Given the description of an element on the screen output the (x, y) to click on. 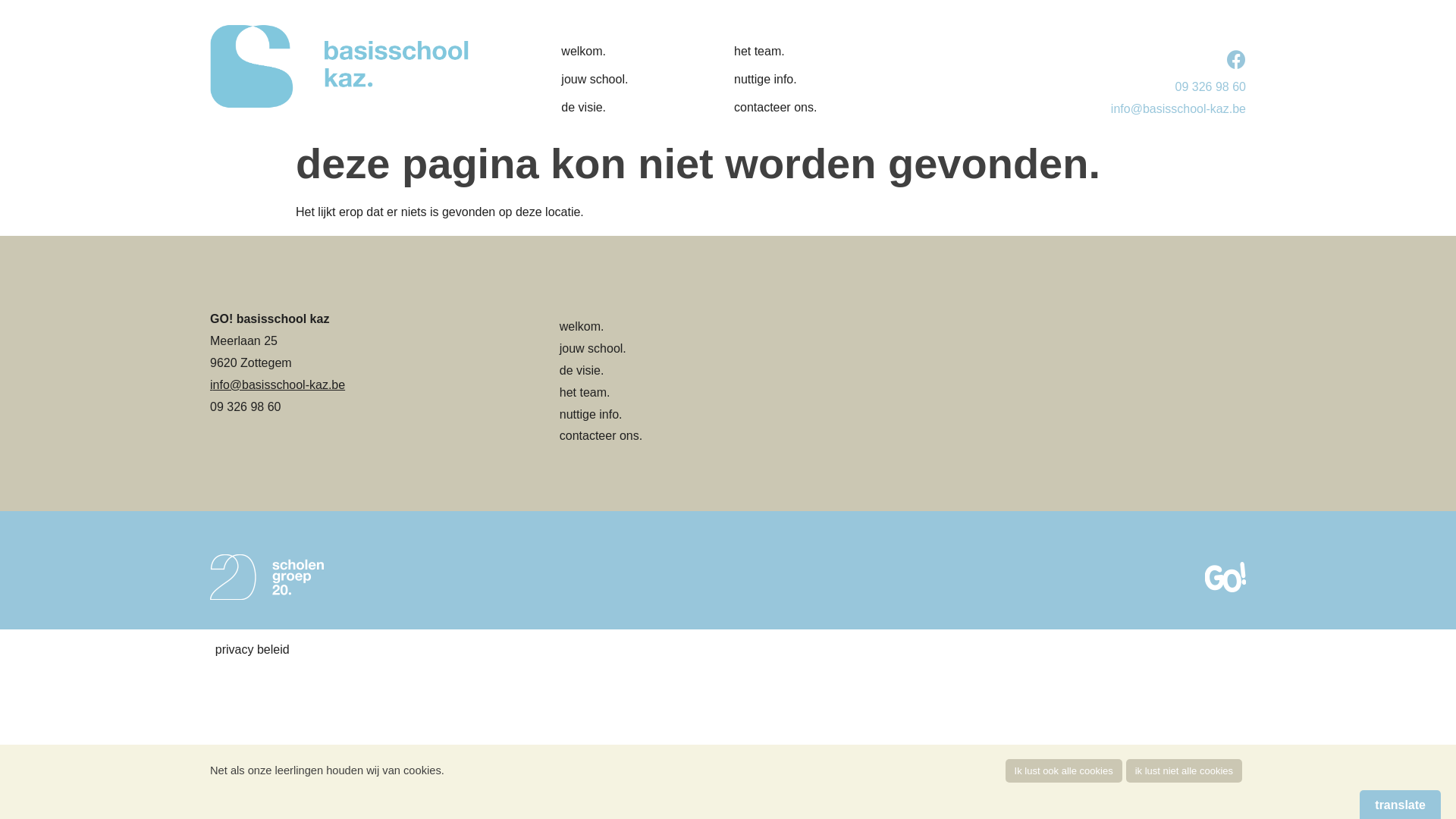
privacy beleid Element type: text (252, 649)
info@basisschool-kaz.be Element type: text (277, 384)
nuttige info. Element type: text (590, 413)
info@basisschool-kaz.be Element type: text (1177, 108)
nuttige info. Element type: text (784, 79)
welkom. Element type: text (581, 326)
Ik lust ook alle cookies Element type: text (1063, 770)
ik lust niet alle cookies Element type: text (1184, 770)
logo-GO-wit Element type: hover (1224, 576)
09 326 98 60 Element type: text (245, 406)
contacteer ons. Element type: text (784, 107)
welkom. Element type: text (611, 51)
het team. Element type: text (784, 51)
jouw school. Element type: text (592, 348)
de visie. Element type: text (611, 107)
contacteer ons. Element type: text (600, 435)
het team. Element type: text (584, 391)
logo-sgr20-white-outline Element type: hover (266, 576)
09 326 98 60 Element type: text (1210, 86)
de visie. Element type: text (581, 370)
jouw school. Element type: text (611, 79)
